Given the description of an element on the screen output the (x, y) to click on. 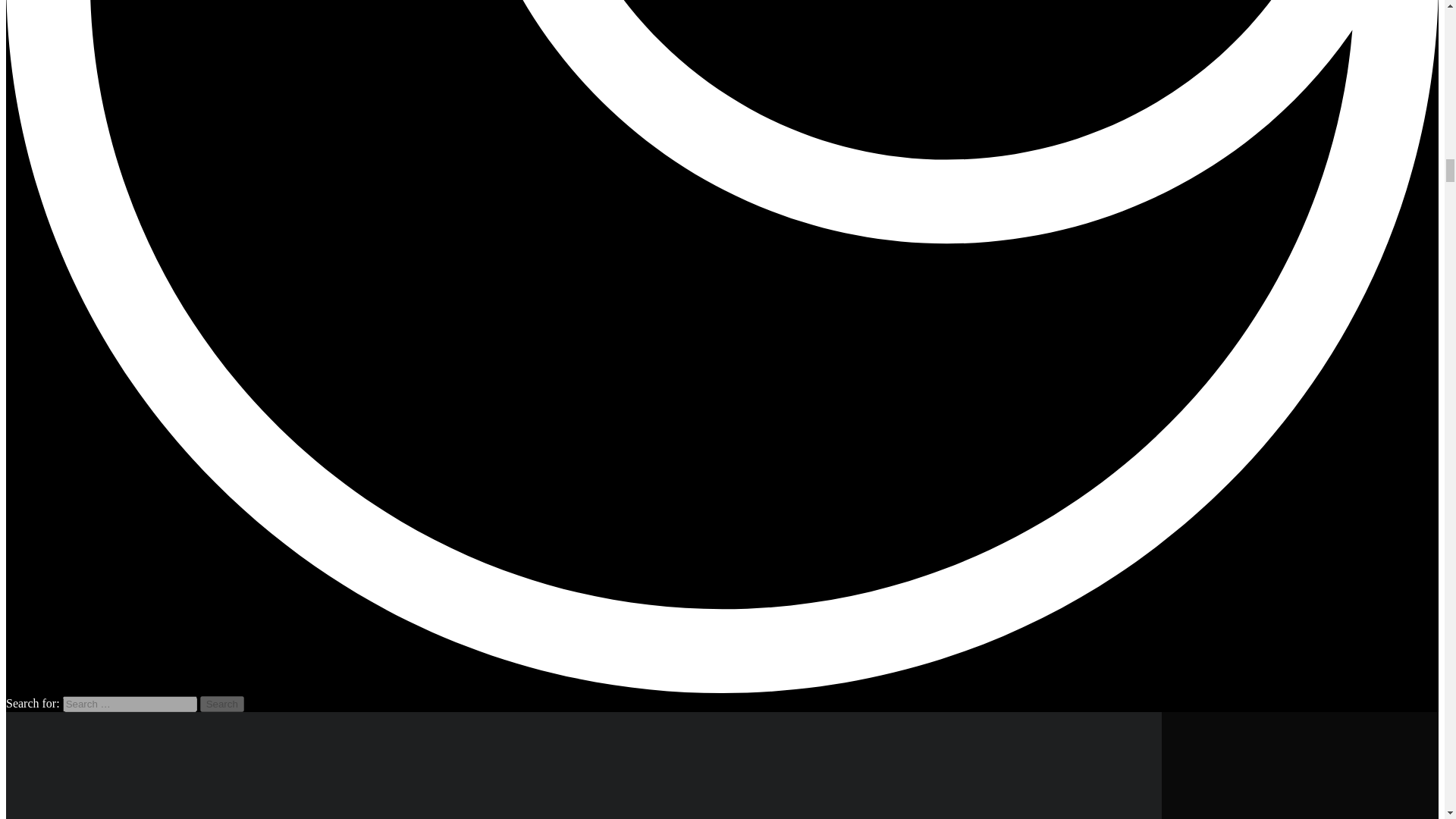
Search (222, 703)
Search (222, 703)
Search (222, 703)
